Given the description of an element on the screen output the (x, y) to click on. 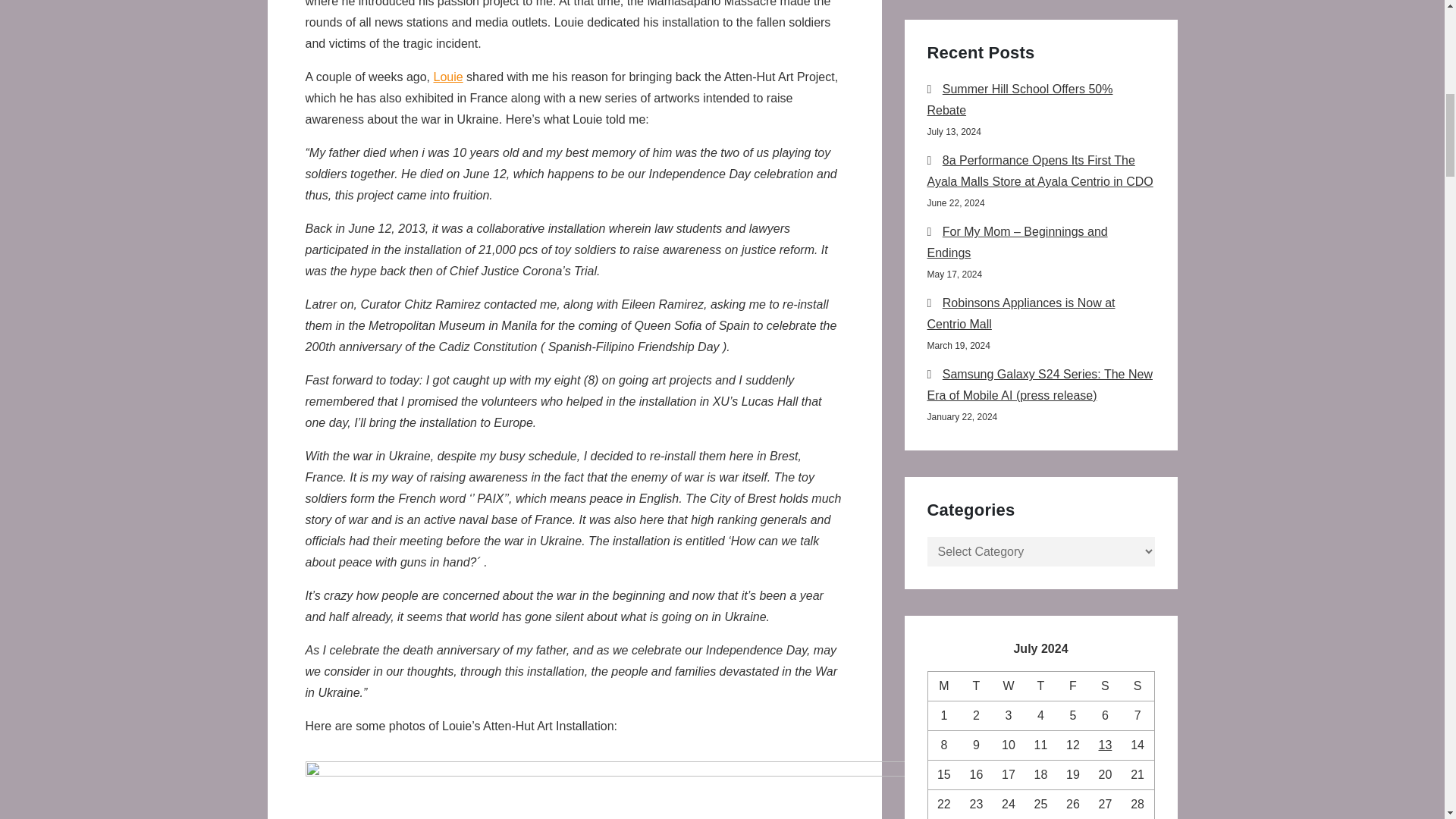
Robinsons Appliances is Now at Centrio Mall (1020, 313)
Thursday (1041, 685)
Tuesday (975, 685)
13 (1105, 744)
Sunday (1137, 685)
Wednesday (1008, 685)
Monday (943, 685)
Saturday (1105, 685)
Friday (1073, 685)
Louie (448, 76)
